Given the description of an element on the screen output the (x, y) to click on. 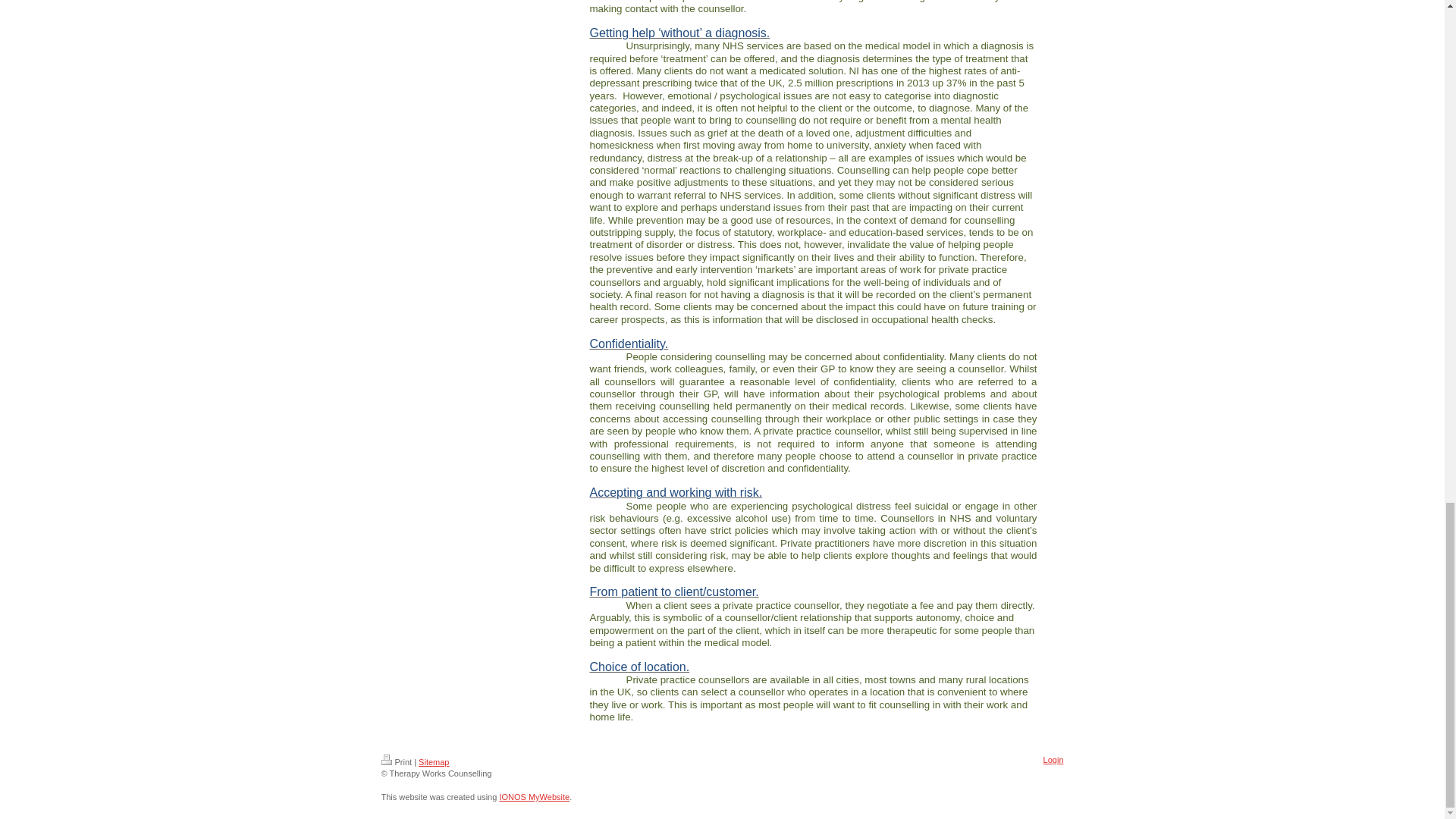
IONOS MyWebsite (534, 796)
Print (396, 761)
Login (1053, 759)
Sitemap (433, 761)
